Given the description of an element on the screen output the (x, y) to click on. 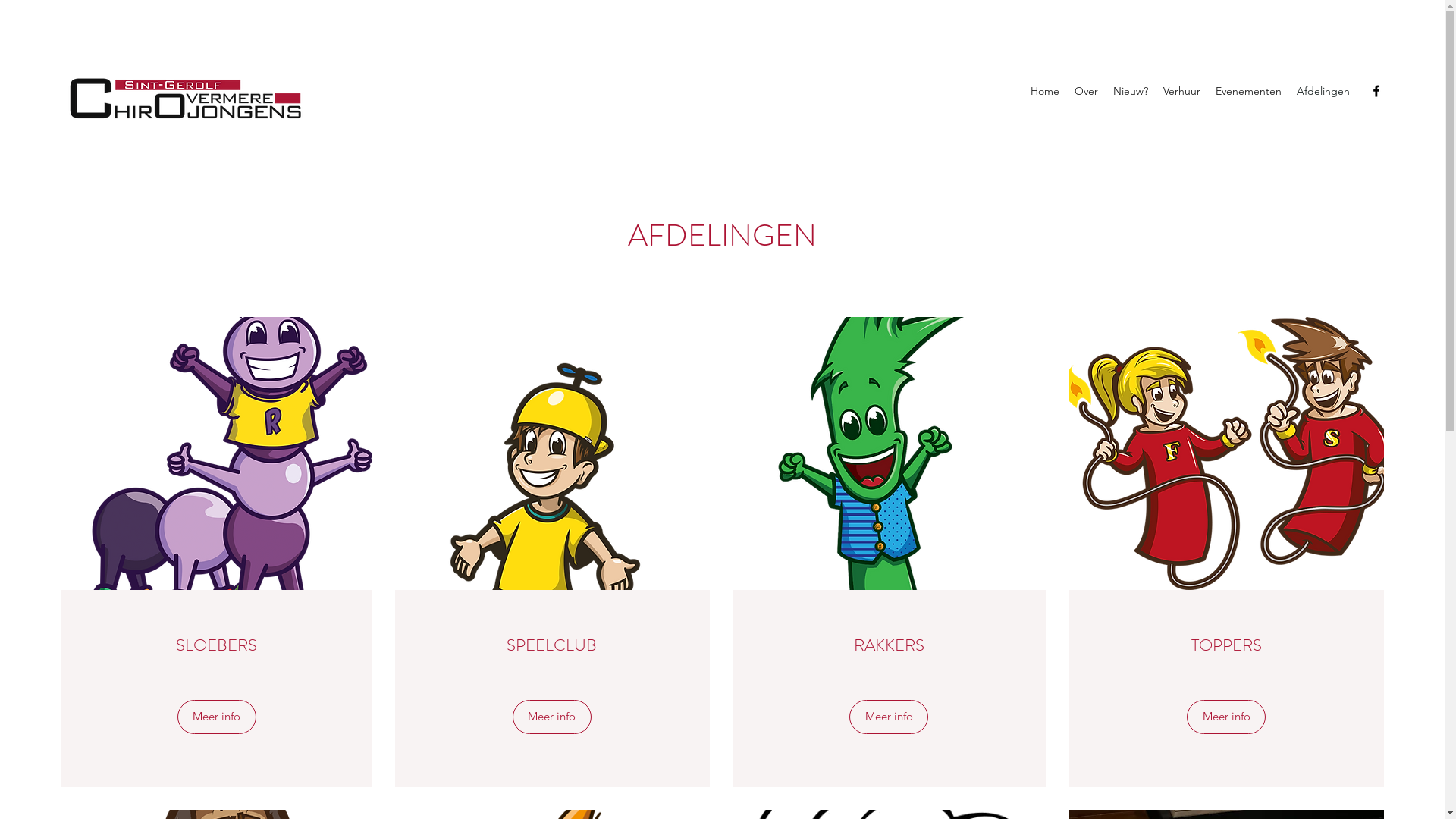
Meer info Element type: text (551, 716)
Over Element type: text (1085, 90)
Verhuur Element type: text (1181, 90)
Meer info Element type: text (216, 716)
Meer info Element type: text (888, 716)
Evenementen Element type: text (1248, 90)
Home Element type: text (1044, 90)
Meer info Element type: text (1225, 716)
Nieuw? Element type: text (1130, 90)
Afdelingen Element type: text (1323, 90)
